Given the description of an element on the screen output the (x, y) to click on. 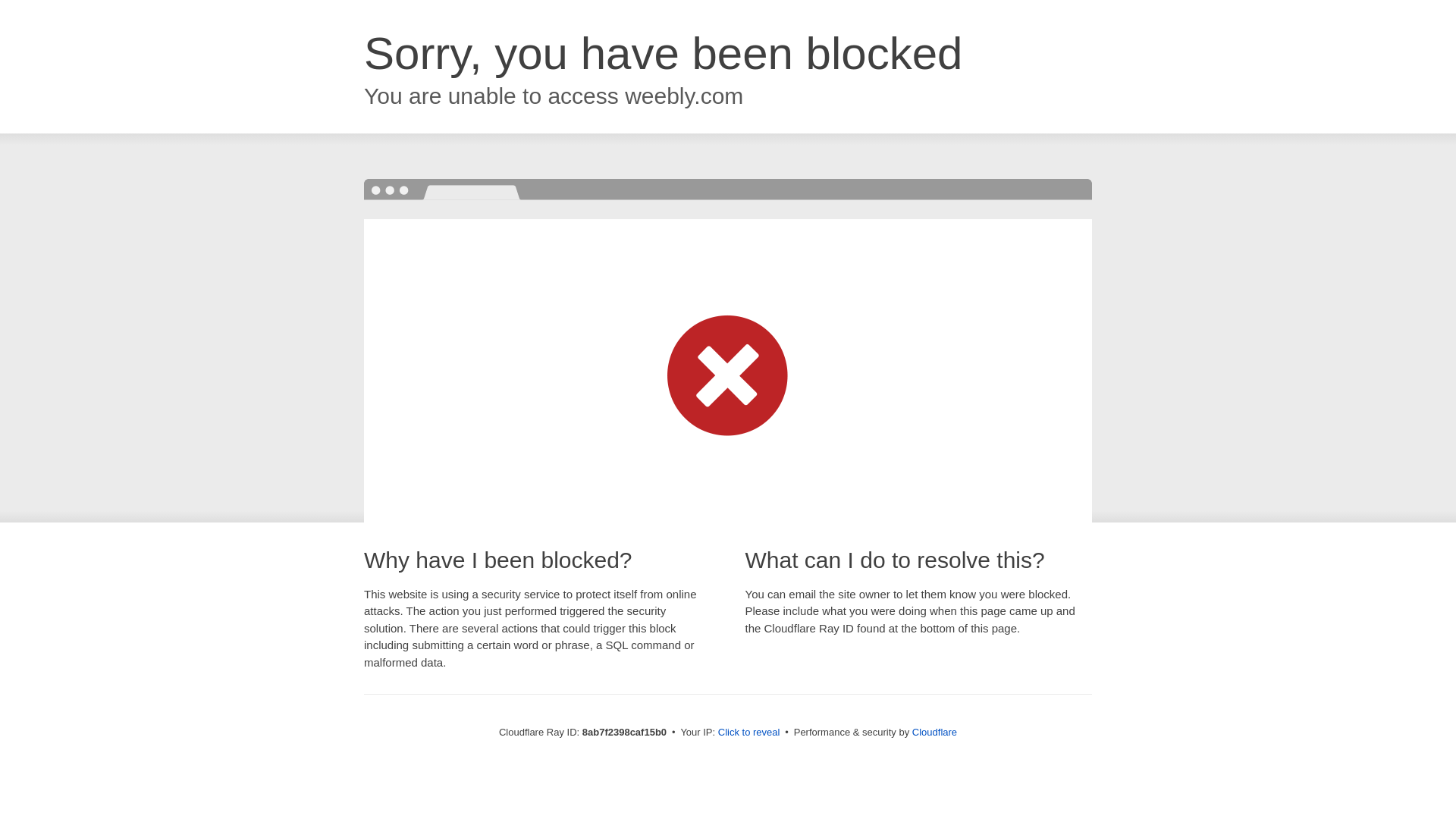
Cloudflare (934, 731)
Click to reveal (748, 732)
